Given the description of an element on the screen output the (x, y) to click on. 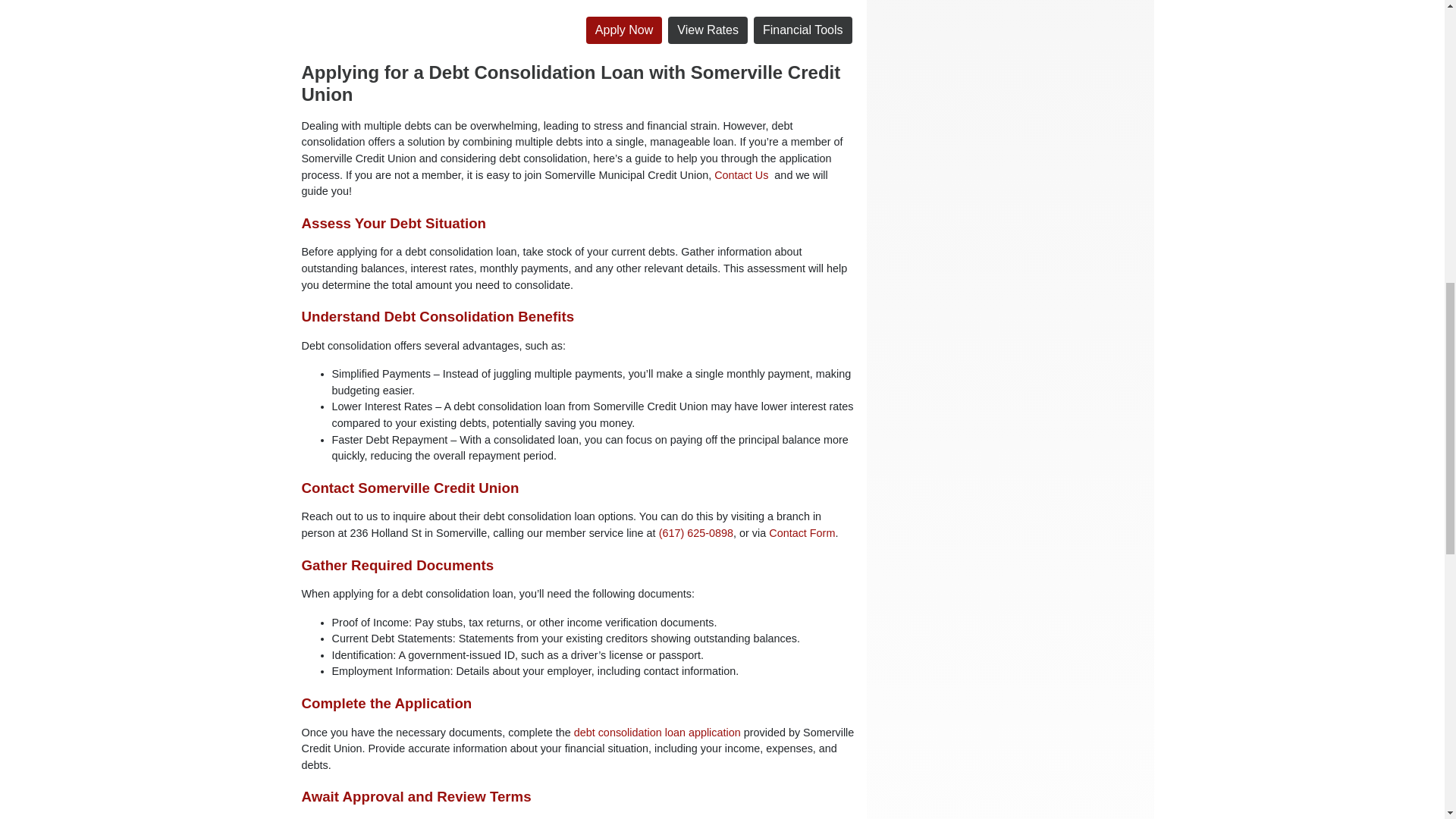
Opens PDF document in a new window. (624, 30)
Opens PDF document in a new window. (657, 732)
